Given the description of an element on the screen output the (x, y) to click on. 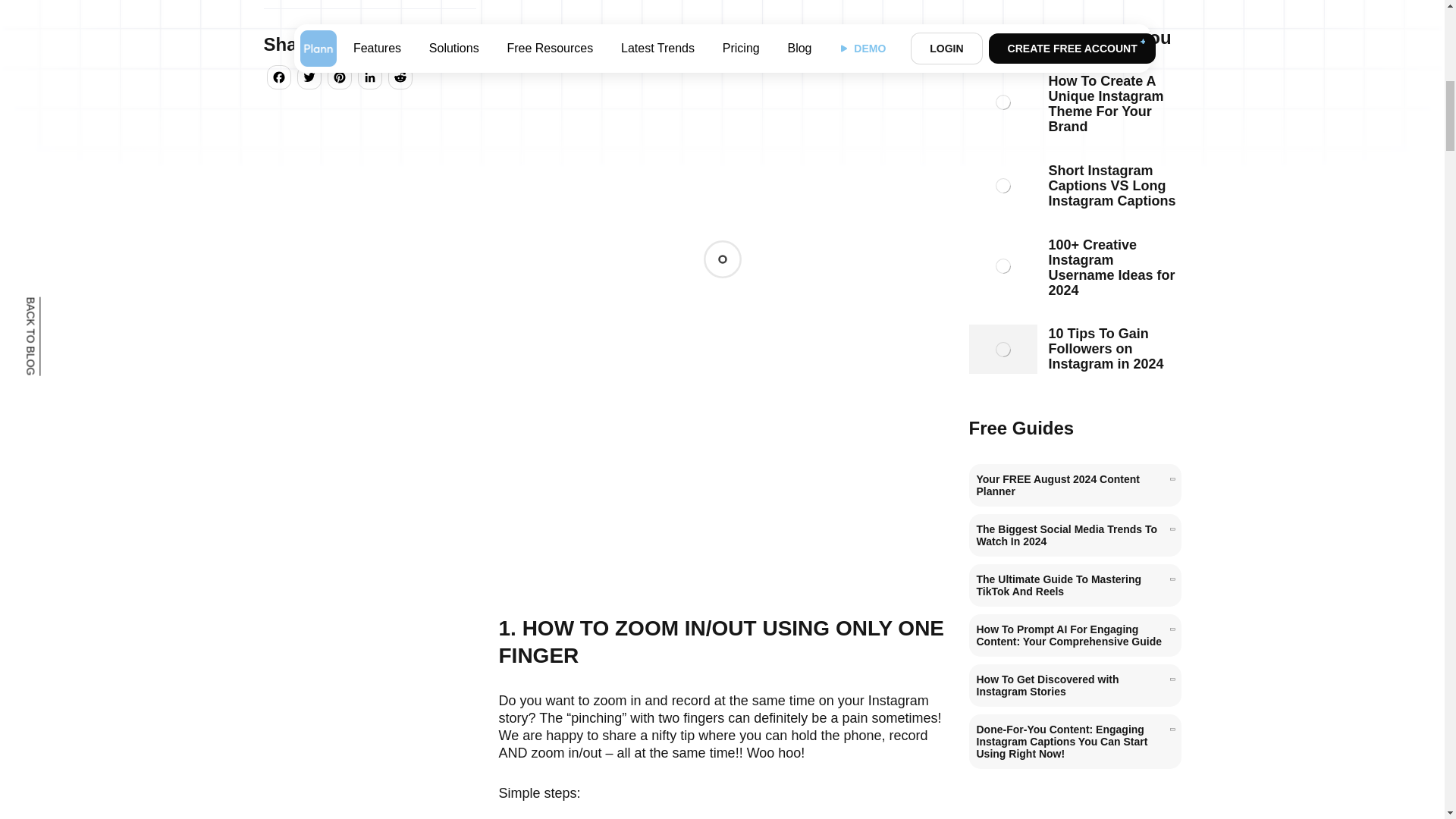
Facebook (278, 79)
Pinterest (339, 79)
Twitter (309, 79)
Reddit (399, 79)
LinkedIn (370, 79)
